Given the description of an element on the screen output the (x, y) to click on. 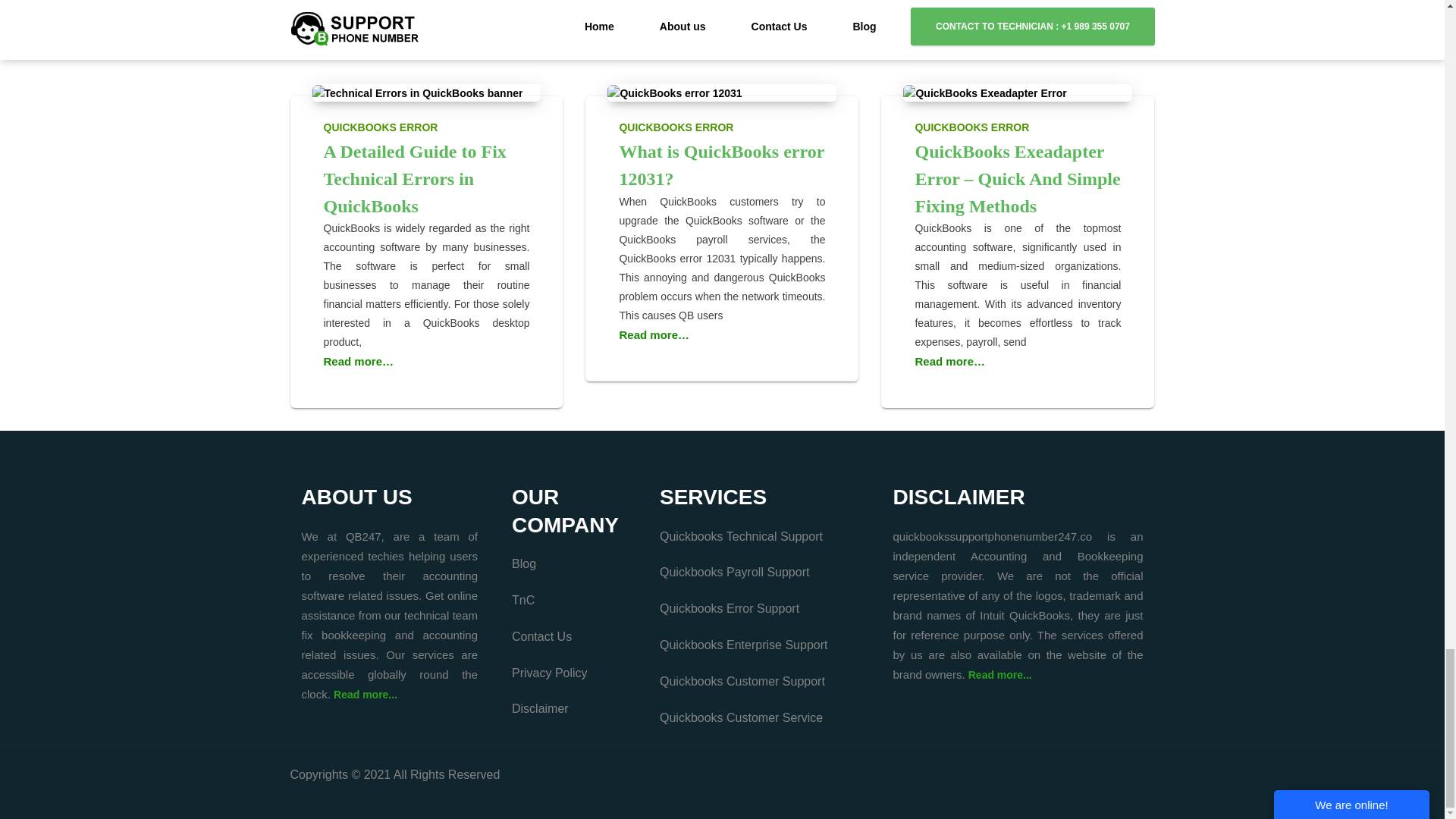
What is QuickBooks error 12031? (674, 92)
View all posts in QuickBooks Error (721, 123)
A Detailed Guide to Fix Technical Errors in QuickBooks (417, 92)
A Detailed Guide to Fix Technical Errors in QuickBooks (414, 178)
View all posts in QuickBooks Error (426, 123)
View all posts in QuickBooks Error (1017, 123)
What is QuickBooks error 12031? (721, 165)
